Given the description of an element on the screen output the (x, y) to click on. 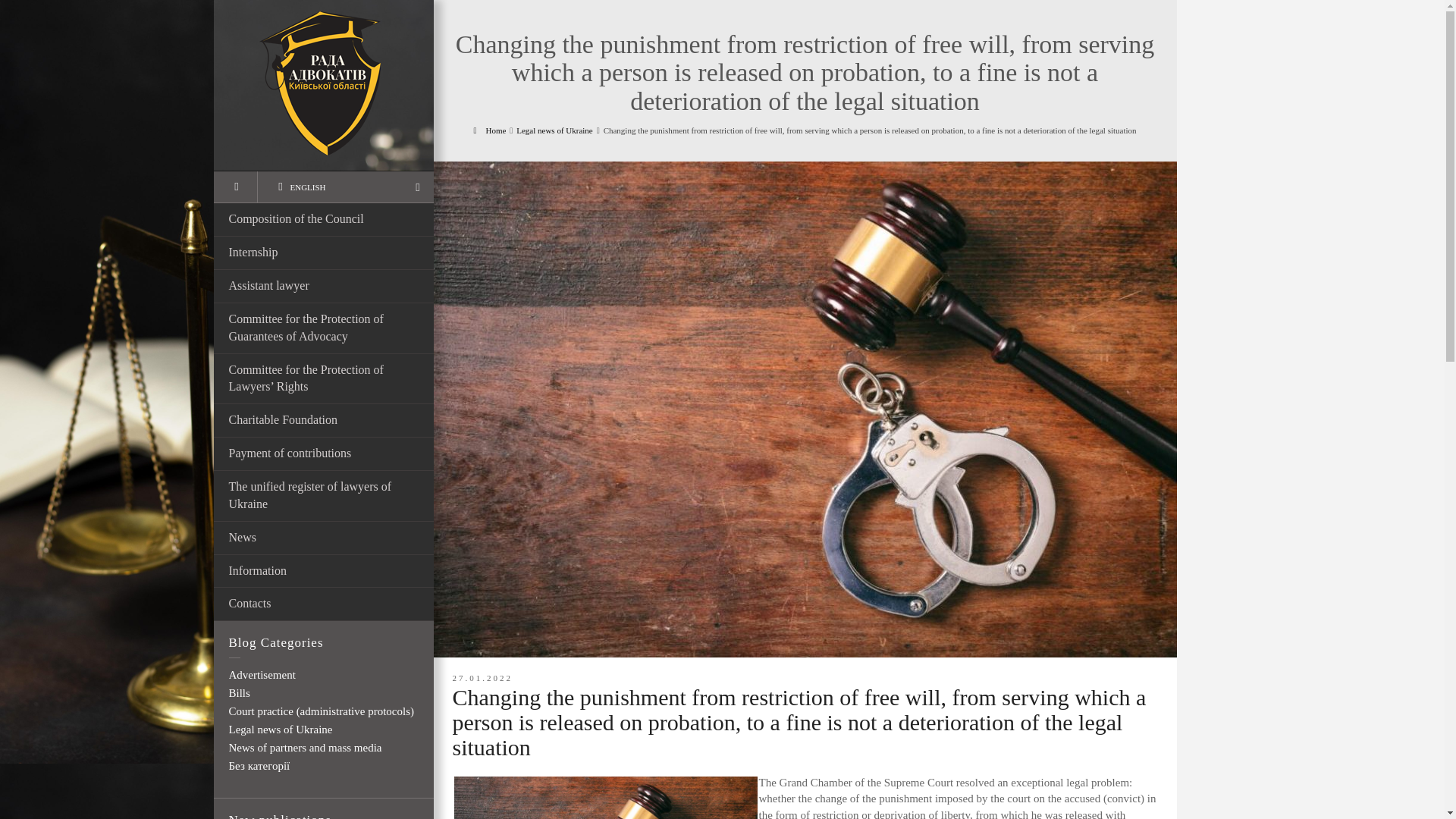
Contacts (323, 604)
Bills (239, 693)
The unified register of lawyers of Ukraine (323, 495)
Information (323, 571)
News of partners and mass media (304, 747)
Legal news of Ukraine (554, 130)
Internship (323, 253)
Composition of the Council (323, 219)
Assistant lawyer (323, 286)
Languages (345, 186)
Home (489, 130)
Charitable Foundation (323, 420)
News (323, 538)
Search (235, 186)
Committee for the Protection of Guarantees of Advocacy (323, 328)
